Given the description of an element on the screen output the (x, y) to click on. 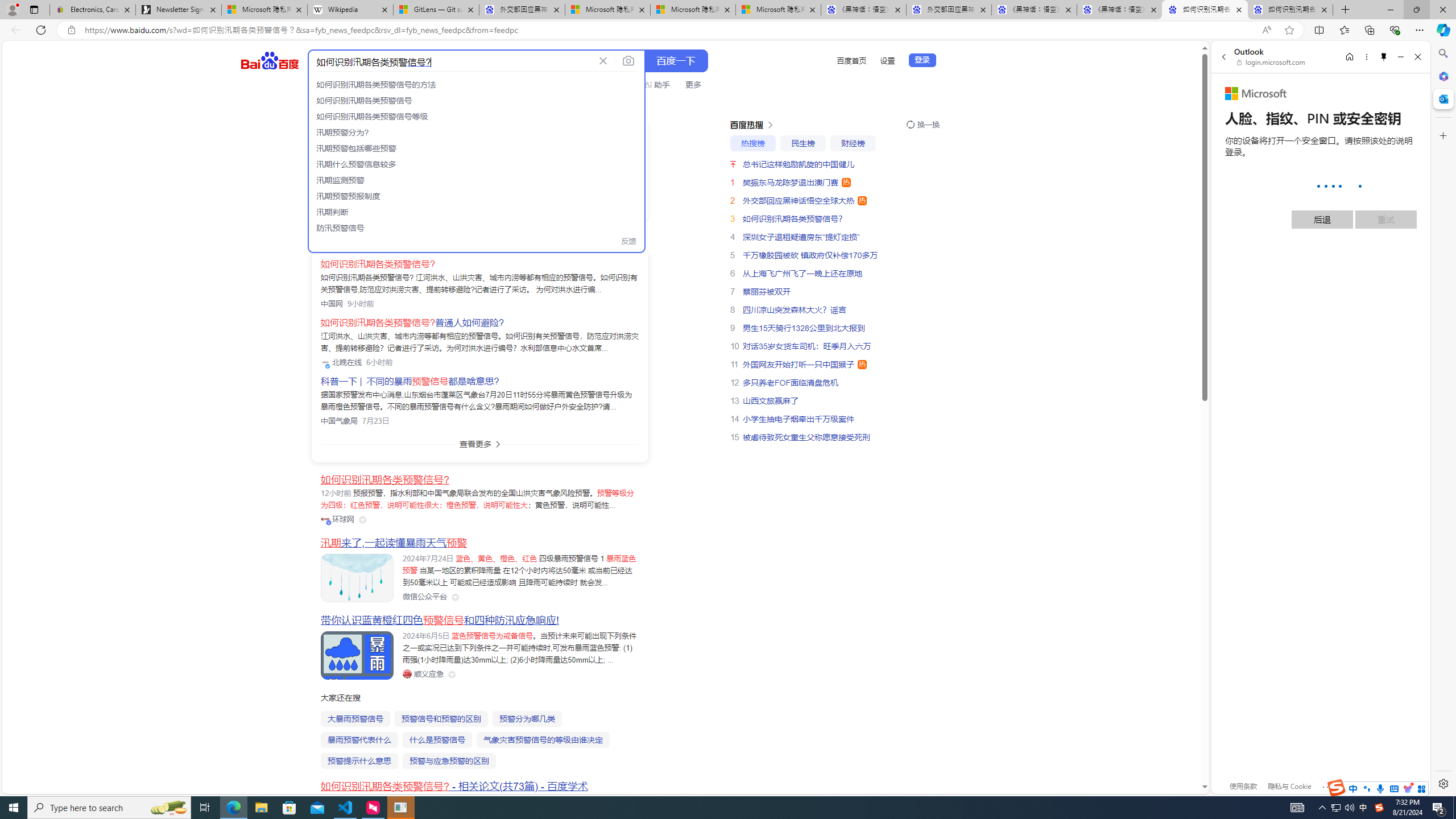
Newsletter Sign Up (178, 9)
Class: vip-icon_kNmNt (328, 522)
